Given the description of an element on the screen output the (x, y) to click on. 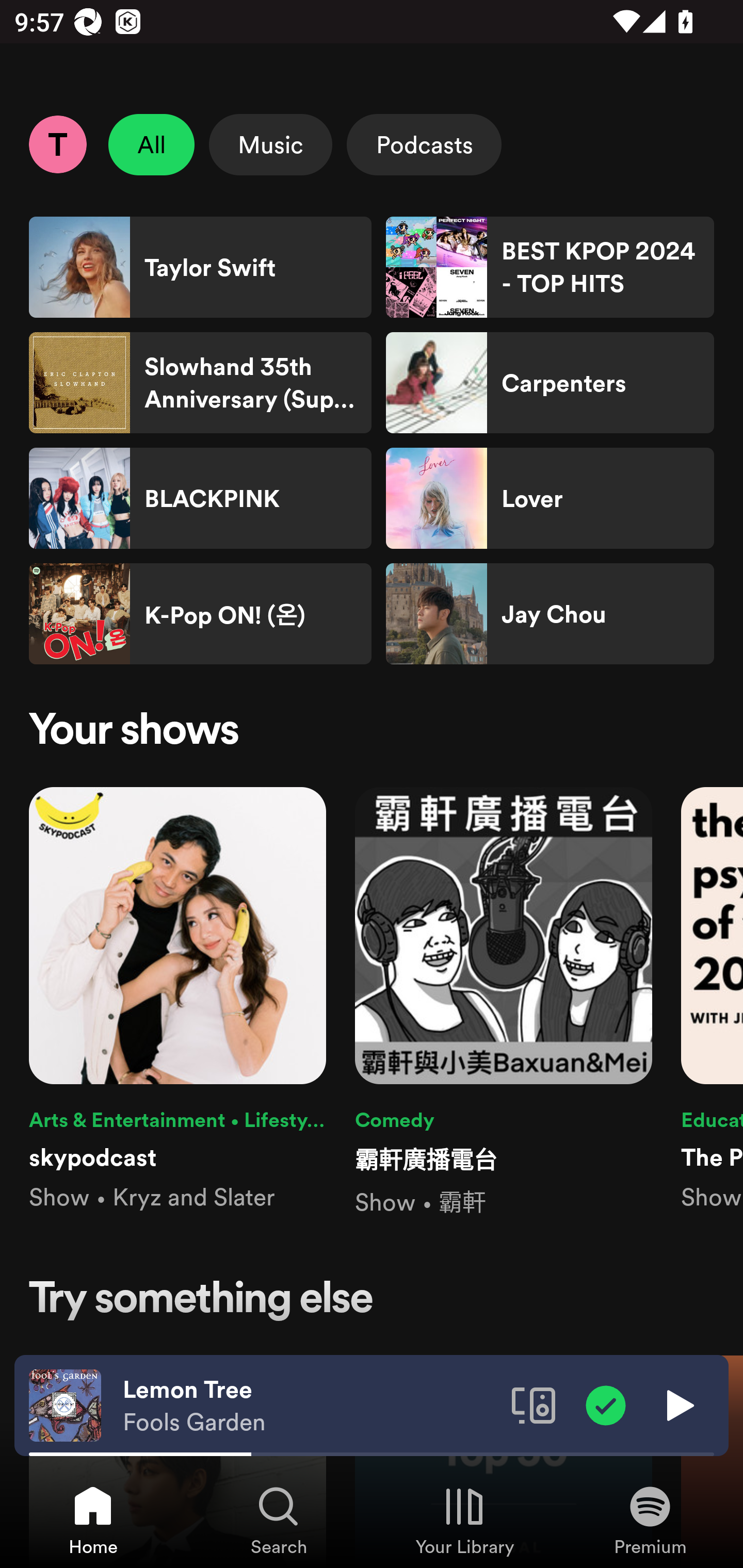
Profile (57, 144)
All Unselect All (151, 144)
Music Select Music (270, 144)
Podcasts Select Podcasts (423, 144)
Taylor Swift Shortcut Taylor Swift (199, 267)
Carpenters Shortcut Carpenters (549, 382)
BLACKPINK Shortcut BLACKPINK (199, 498)
Lover Shortcut Lover (549, 498)
K-Pop ON! (온) Shortcut K-Pop ON! (온) (199, 613)
Jay Chou Shortcut Jay Chou (549, 613)
Comedy 霸軒廣播電台 Show • 霸軒 (503, 1002)
Lemon Tree Fools Garden (309, 1405)
The cover art of the currently playing track (64, 1404)
Connect to a device. Opens the devices menu (533, 1404)
Item added (605, 1404)
Play (677, 1404)
Home, Tab 1 of 4 Home Home (92, 1519)
Search, Tab 2 of 4 Search Search (278, 1519)
Your Library, Tab 3 of 4 Your Library Your Library (464, 1519)
Premium, Tab 4 of 4 Premium Premium (650, 1519)
